Given the description of an element on the screen output the (x, y) to click on. 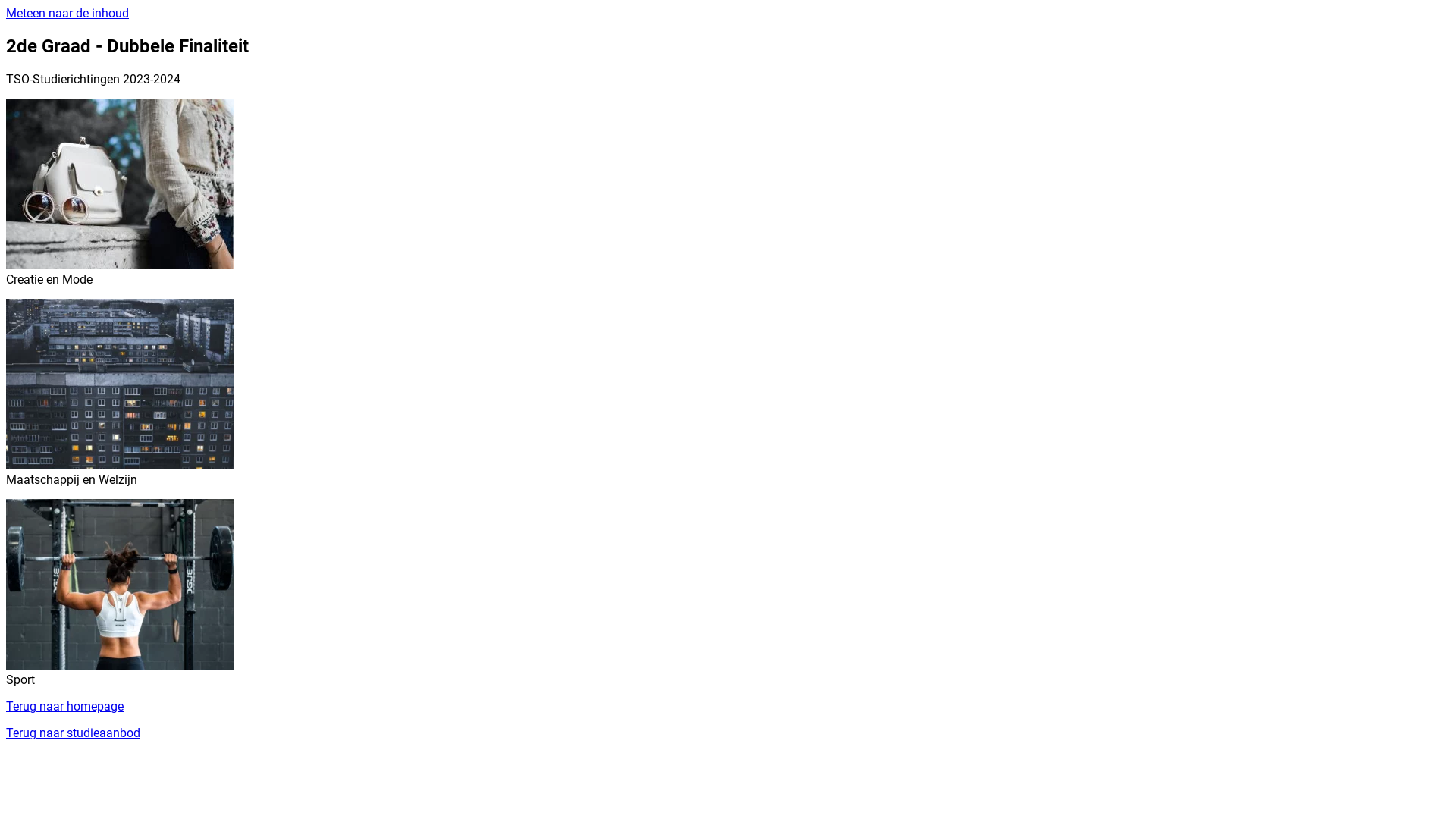
Terug naar studieaanbod Element type: text (73, 732)
Meteen naar de inhoud Element type: text (67, 13)
Terug naar homepage Element type: text (64, 706)
